Given the description of an element on the screen output the (x, y) to click on. 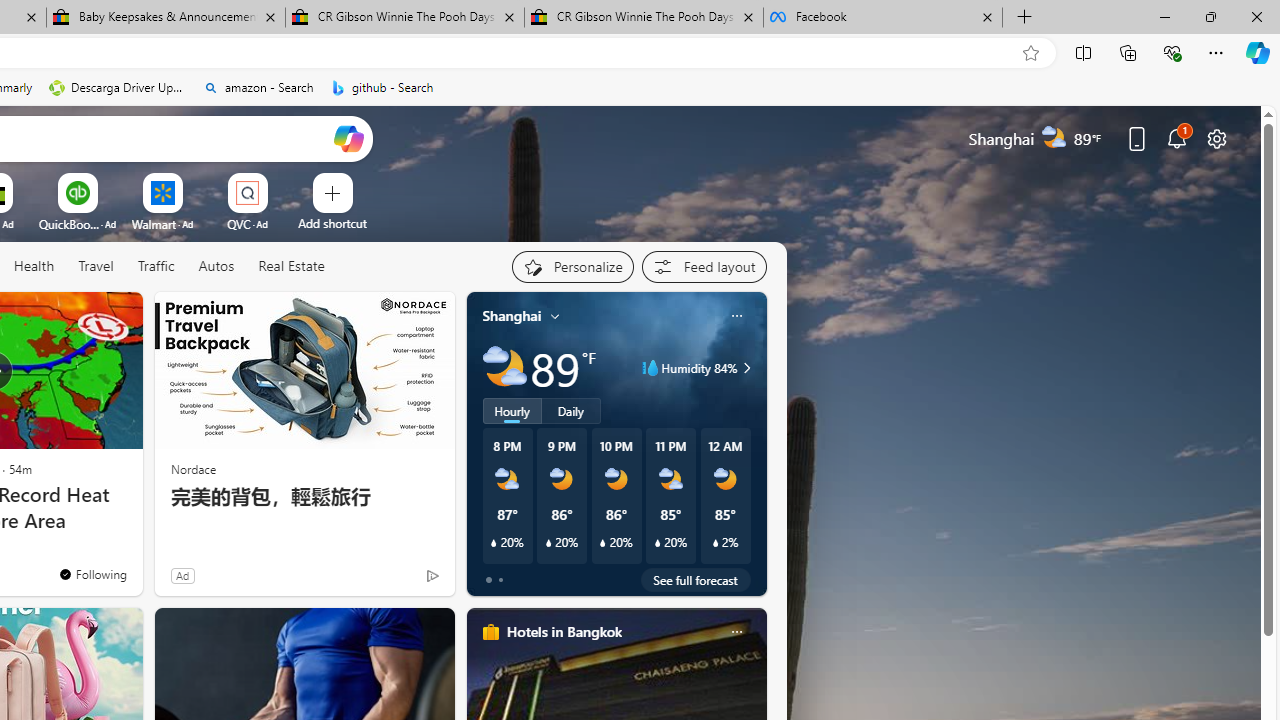
More Options (279, 179)
Autos (216, 267)
Class: weather-current-precipitation-glyph (715, 543)
amazon - Search (258, 88)
tab-0 (488, 579)
You're following The Weather Channel (92, 573)
Shanghai (511, 315)
Health (33, 267)
